Given the description of an element on the screen output the (x, y) to click on. 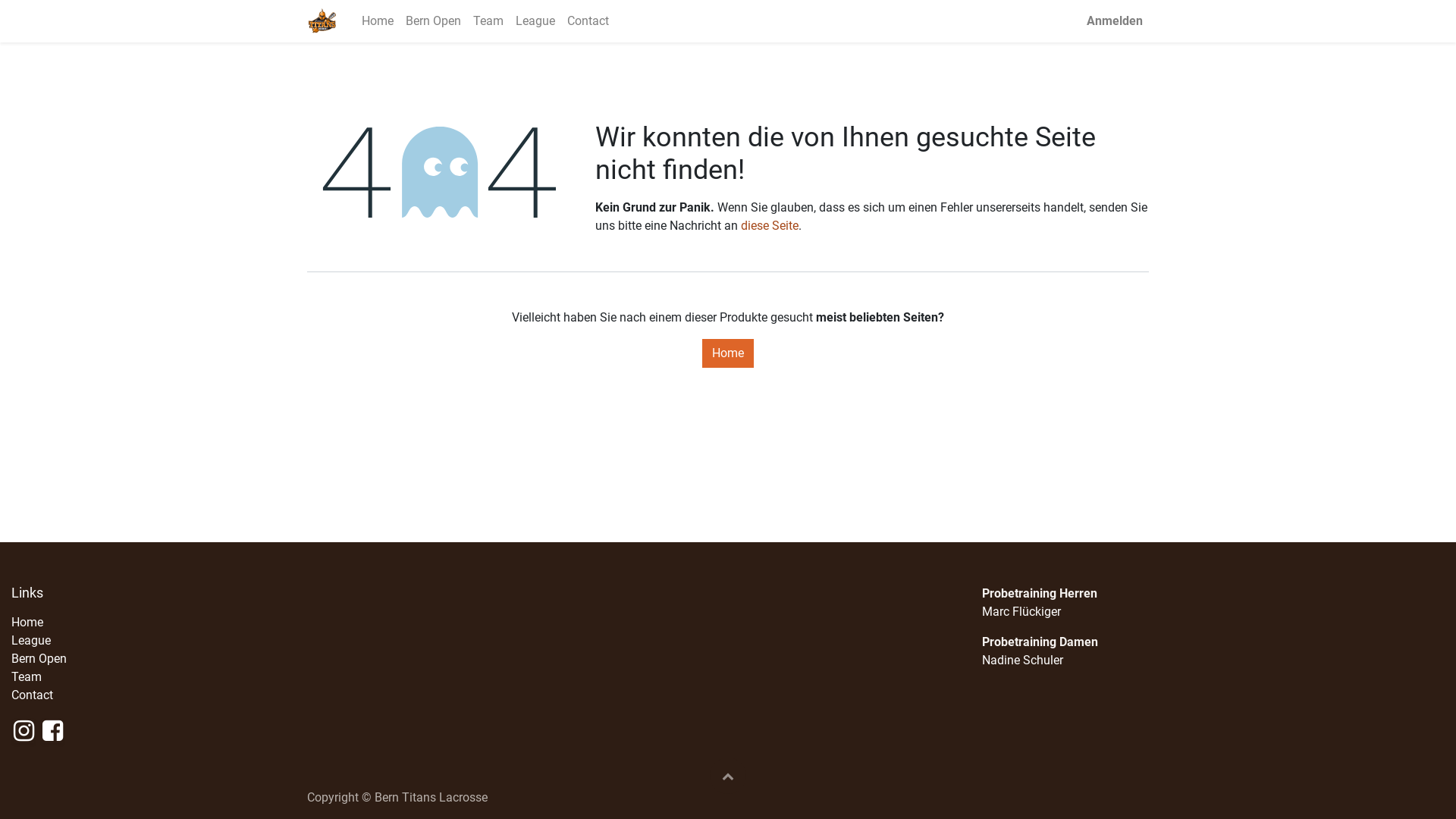
Bern Open Element type: text (433, 21)
Home Element type: text (27, 622)
Contact Element type: text (32, 694)
League Element type: text (30, 640)
Home Element type: text (727, 352)
League Element type: text (535, 21)
Team Element type: text (488, 21)
Team Element type: text (26, 676)
Nadine Schuler Element type: text (1022, 659)
Nach Oben Scrollen Element type: hover (727, 775)
Bern Lacrosse Element type: hover (322, 21)
diese Seite Element type: text (769, 225)
Contact Element type: text (588, 21)
Home Element type: text (377, 21)
Anmelden Element type: text (1114, 21)
Bern Open Element type: text (38, 658)
